Given the description of an element on the screen output the (x, y) to click on. 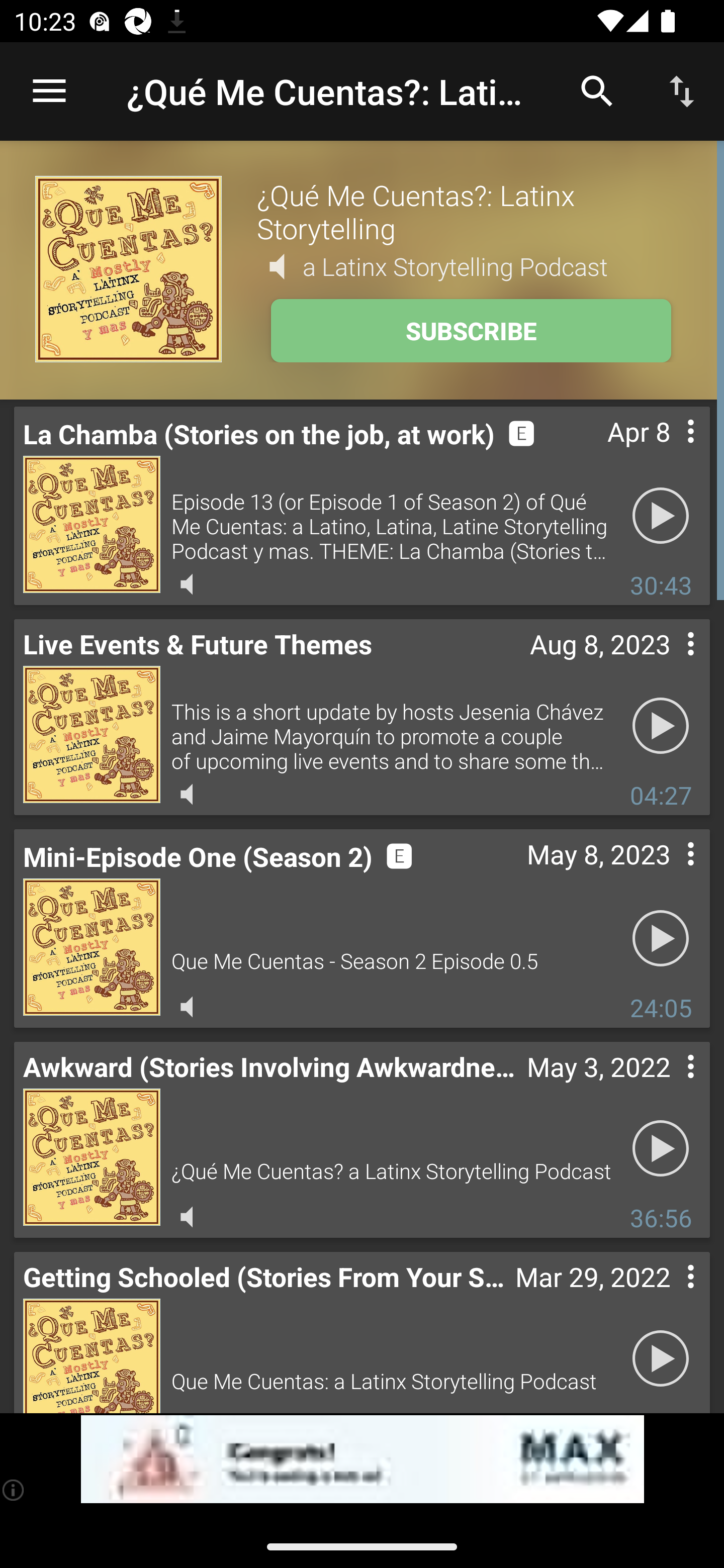
Open navigation sidebar (49, 91)
Search (597, 90)
Sort (681, 90)
SUBSCRIBE (470, 330)
Contextual menu (668, 451)
Play (660, 514)
Contextual menu (668, 663)
Play (660, 724)
Contextual menu (668, 873)
Play (660, 938)
Contextual menu (668, 1086)
Play (660, 1148)
Contextual menu (668, 1297)
Play (660, 1358)
app-monetization (362, 1459)
(i) (14, 1489)
